Given the description of an element on the screen output the (x, y) to click on. 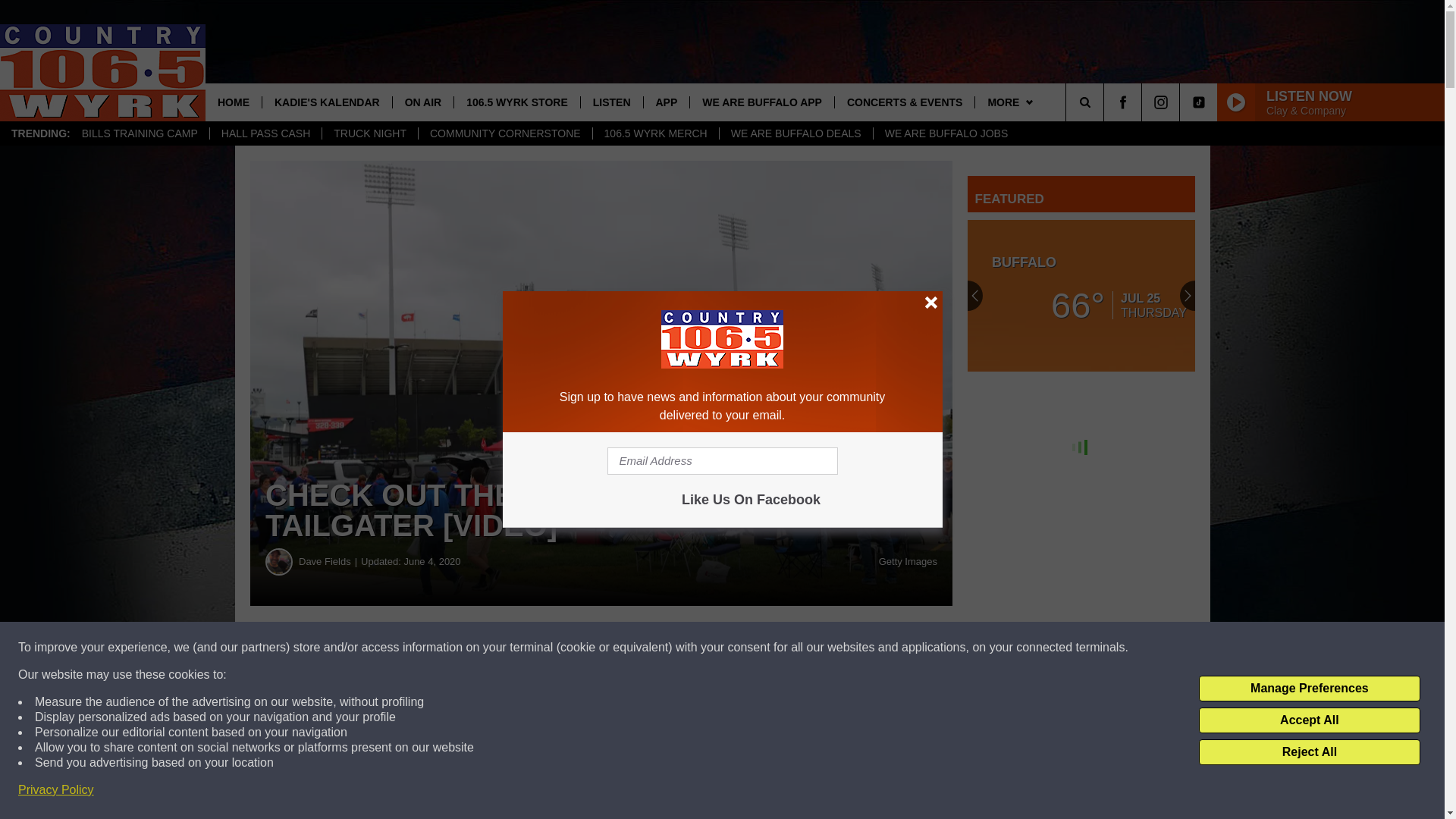
Privacy Policy (55, 789)
WE ARE BUFFALO JOBS (946, 133)
ON AIR (421, 102)
COMMUNITY CORNERSTONE (504, 133)
Accept All (1309, 720)
KADIE'S KALENDAR (326, 102)
HALL PASS CASH (265, 133)
SEARCH (1106, 102)
WE ARE BUFFALO DEALS (795, 133)
TRUCK NIGHT (369, 133)
106.5 WYRK MERCH (655, 133)
WE ARE BUFFALO APP (761, 102)
BILLS TRAINING CAMP (139, 133)
SEARCH (1106, 102)
Reject All (1309, 751)
